Given the description of an element on the screen output the (x, y) to click on. 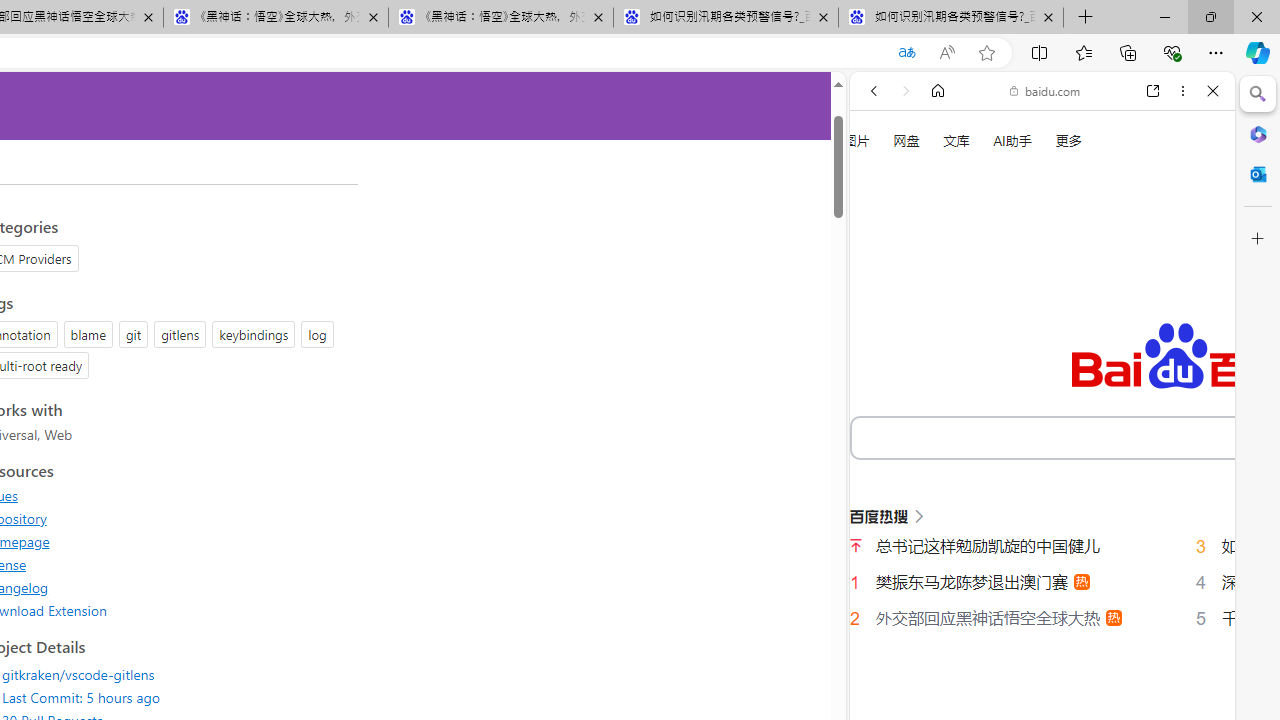
English (US) (1042, 579)
baidu.com (1045, 90)
